Given the description of an element on the screen output the (x, y) to click on. 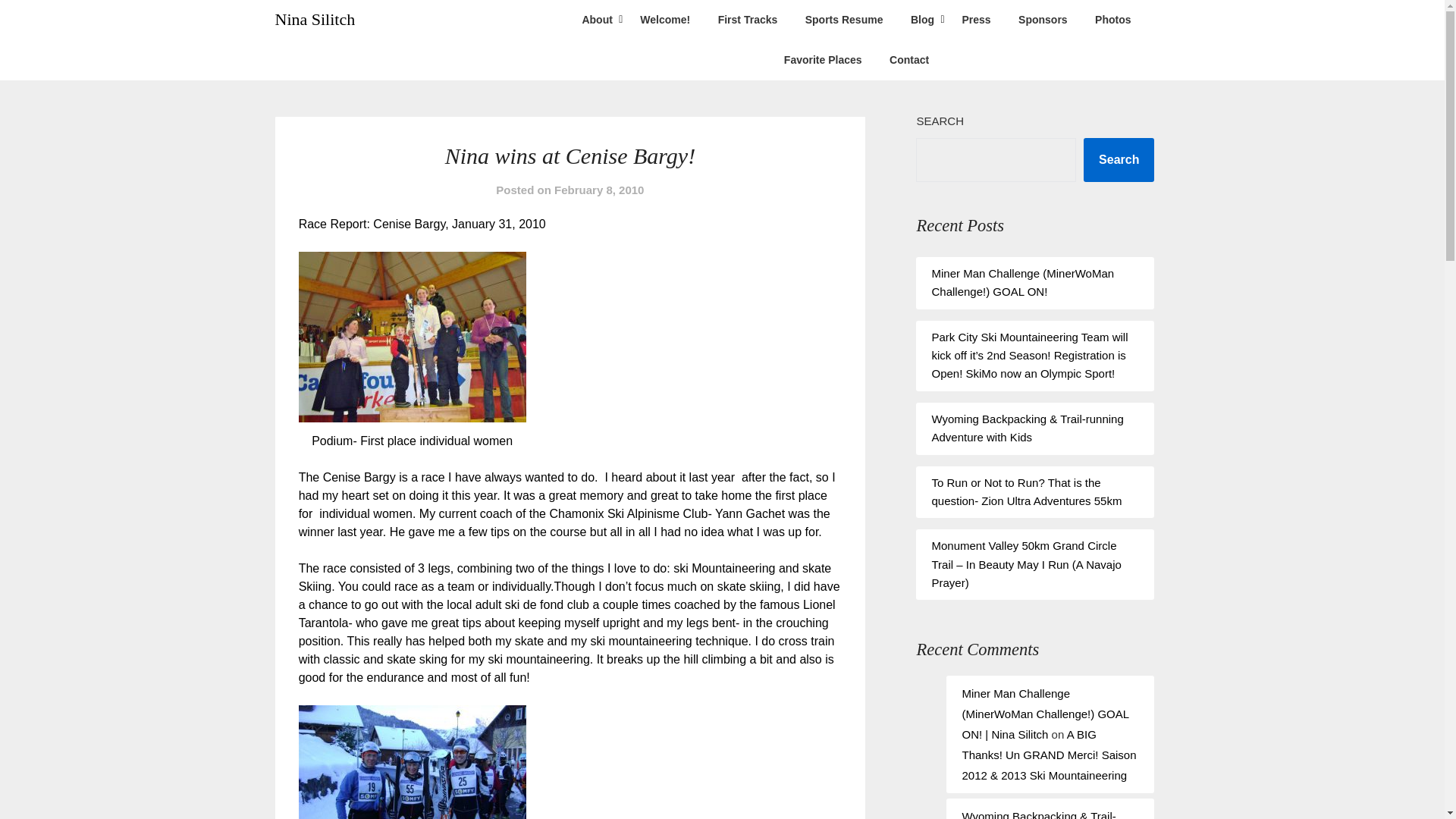
Blog (922, 20)
First Tracks (748, 20)
Search (1118, 159)
Sponsors (1043, 20)
Favorite Places (823, 60)
Photos (1112, 20)
About (596, 20)
February 8, 2010 (598, 189)
Start -Cenise Bargy  (411, 762)
DSC04008 (411, 336)
Contact (908, 60)
Nina Silitch (315, 19)
Welcome! (664, 20)
Press (976, 20)
